Given the description of an element on the screen output the (x, y) to click on. 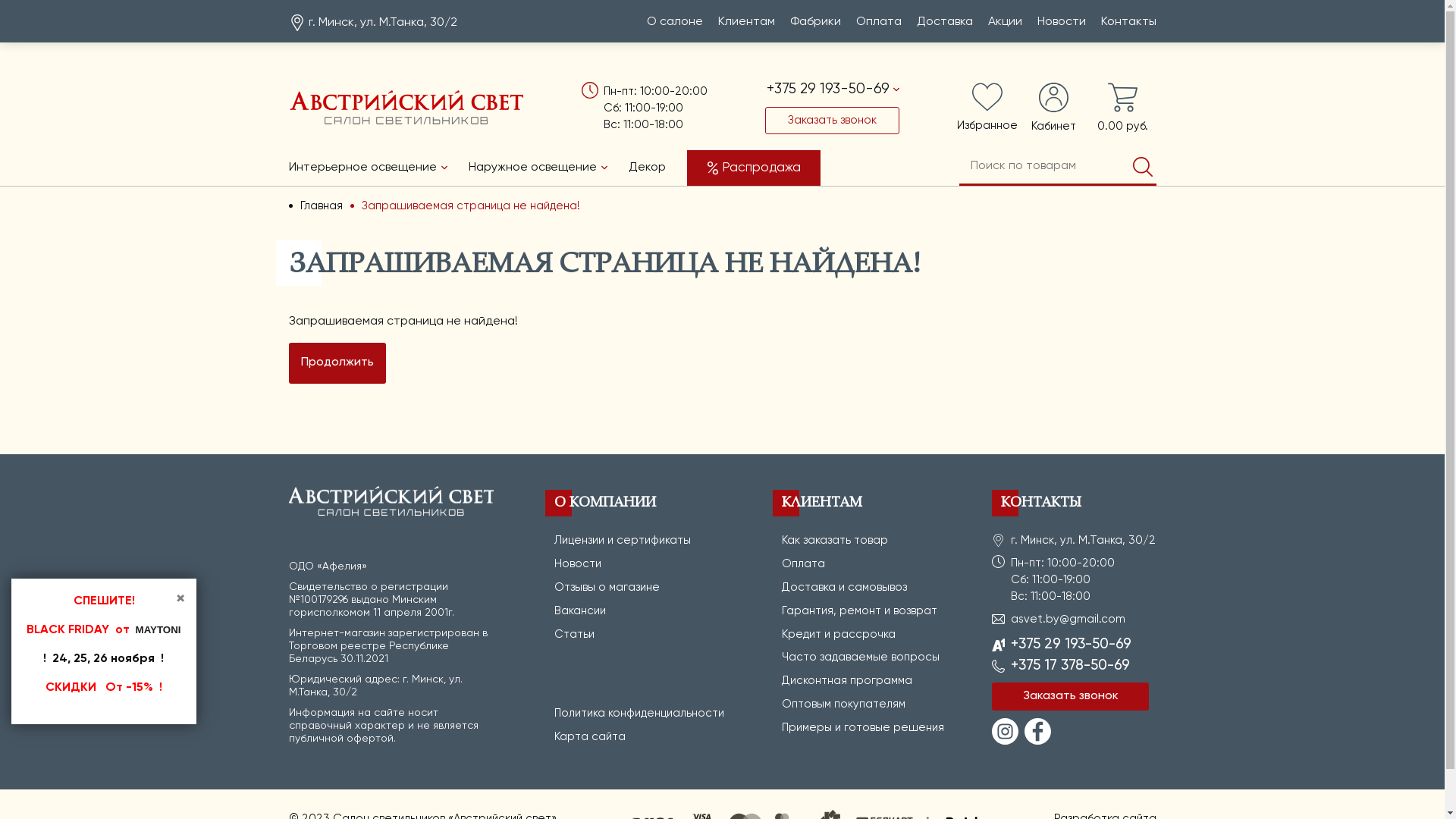
+375 17 378-50-69 Element type: text (1069, 665)
+375 29 193-50-69 Element type: text (1070, 644)
+375 29 193-50-69 Element type: text (832, 88)
asvet.by@gmail.com Element type: text (1067, 618)
